Given the description of an element on the screen output the (x, y) to click on. 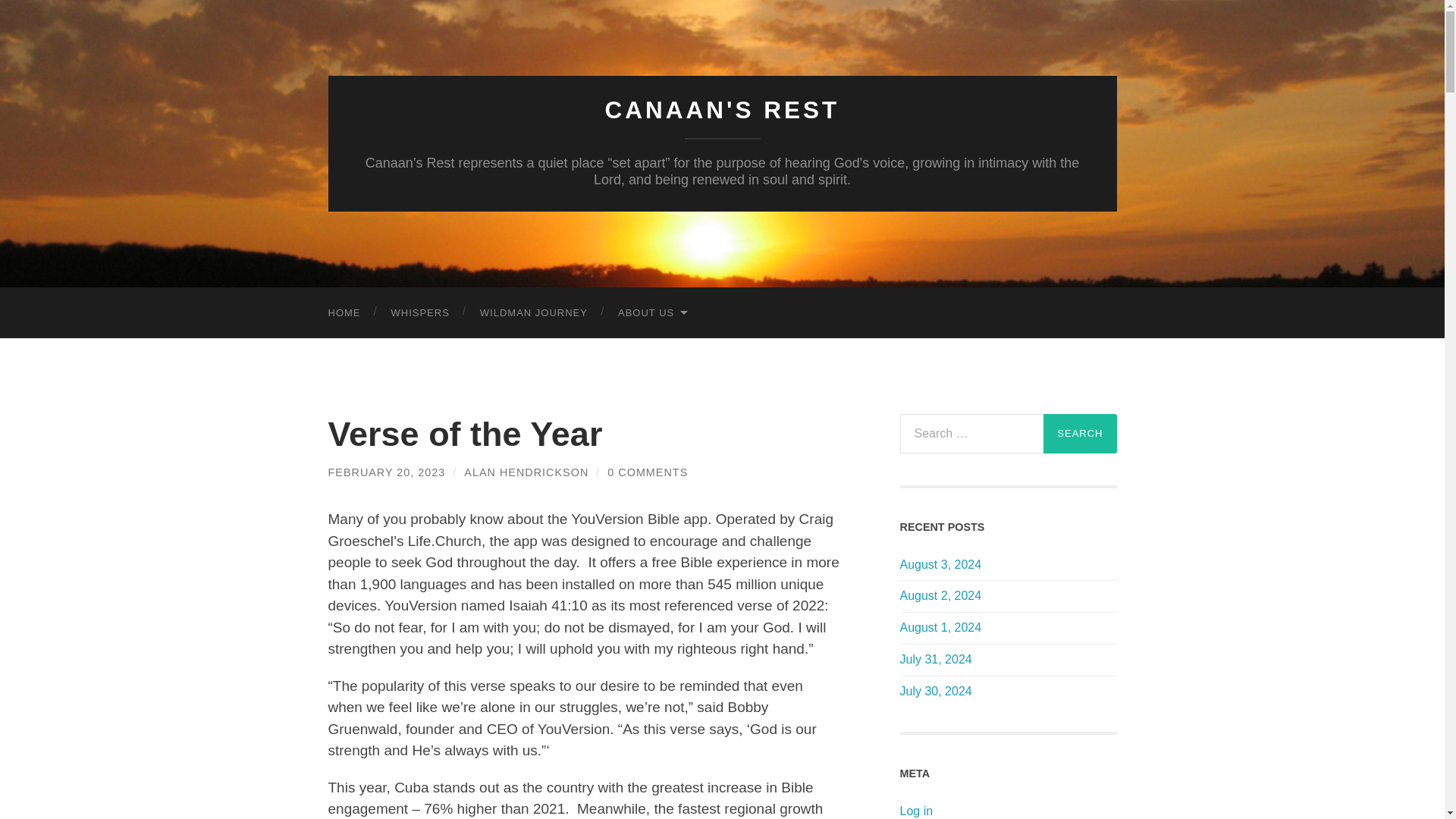
WHISPERS (419, 311)
CANAAN'S REST (722, 109)
Search (1079, 433)
FEBRUARY 20, 2023 (386, 471)
0 COMMENTS (647, 471)
Log in (916, 810)
August 1, 2024 (1007, 627)
Search (1079, 433)
HOME (344, 311)
August 3, 2024 (1007, 565)
ALAN HENDRICKSON (526, 471)
July 30, 2024 (1007, 691)
July 31, 2024 (1007, 659)
August 2, 2024 (1007, 596)
Search (1079, 433)
